Given the description of an element on the screen output the (x, y) to click on. 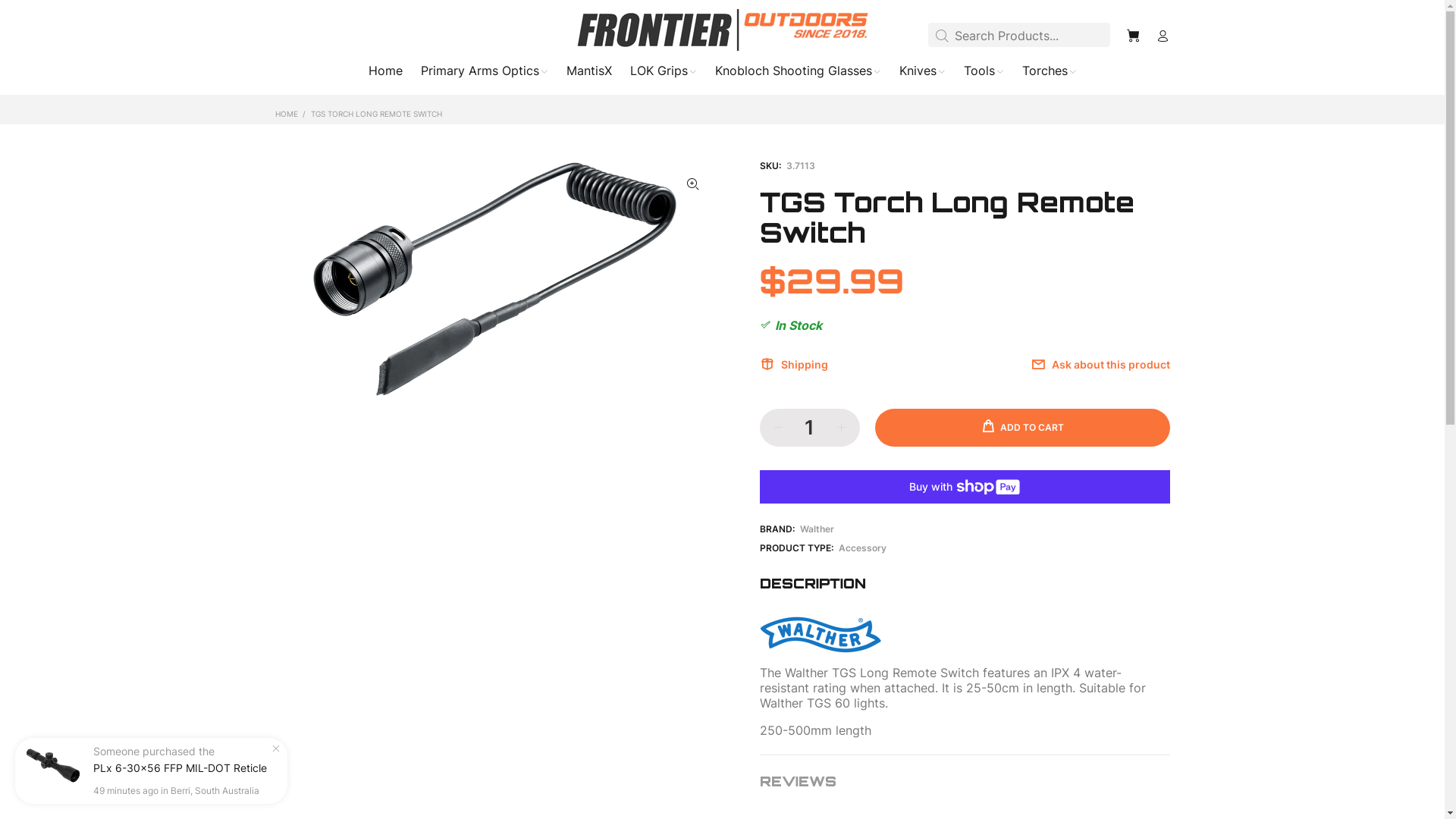
TGS 60 Element type: text (828, 702)
Accessory Element type: text (862, 547)
Shipping Element type: text (798, 364)
Walther Knives & Torches Element type: hover (820, 632)
Tools Element type: text (982, 74)
ADD TO CART Element type: text (1022, 427)
Knives Element type: text (922, 74)
Ask about this product Element type: text (1094, 364)
Torches Element type: text (1044, 74)
HOME Element type: text (285, 113)
LOK Grips Element type: text (662, 74)
PLx 6-30x56 FFP MIL-DOT Reticle Element type: text (179, 767)
Knobloch Shooting Glasses Element type: text (797, 74)
MantisX Element type: text (588, 74)
Walther Element type: text (816, 528)
Primary Arms Optics Element type: text (483, 74)
Home Element type: text (385, 74)
